Given the description of an element on the screen output the (x, y) to click on. 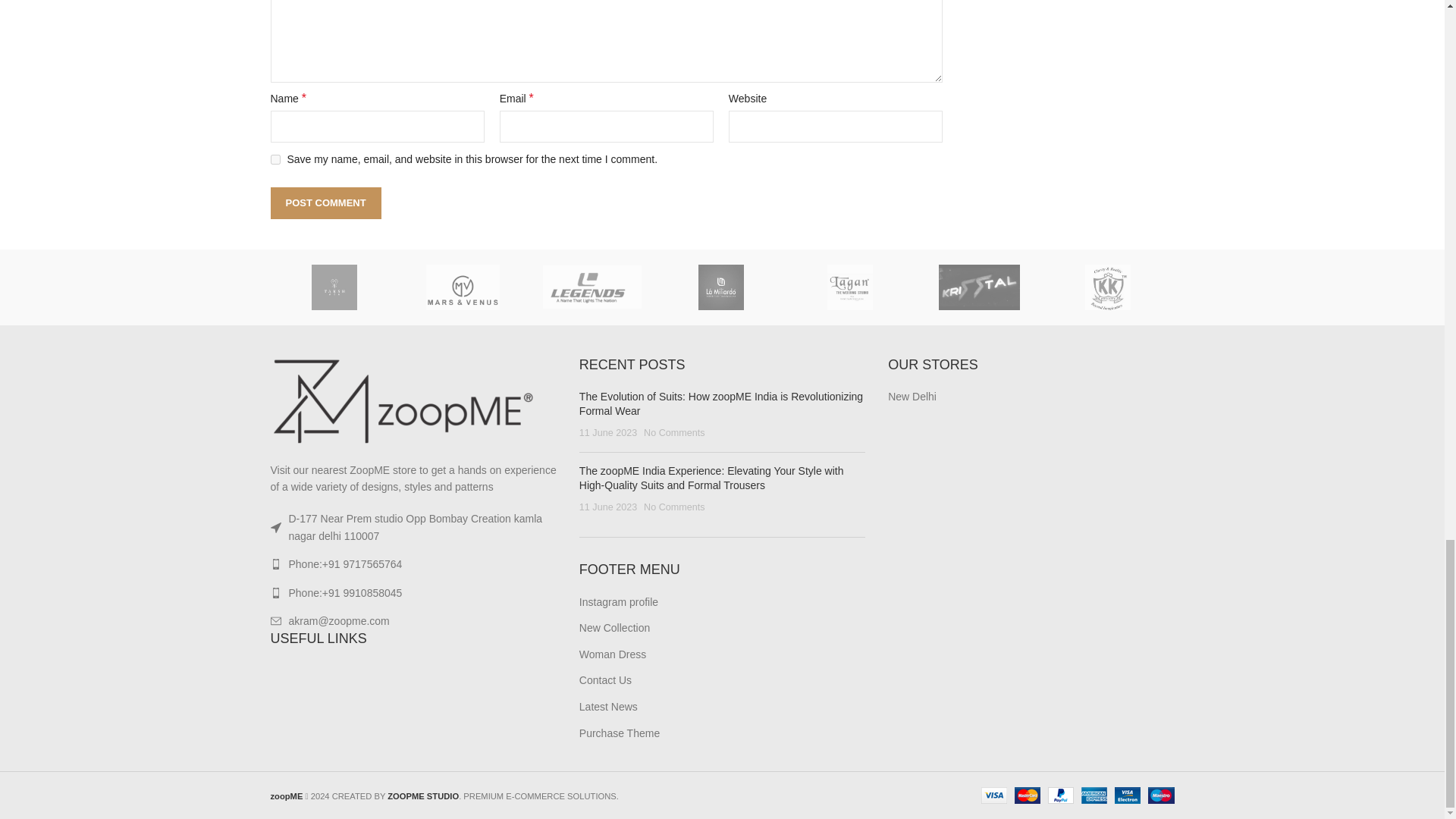
yes (274, 159)
Post Comment (324, 203)
